Given the description of an element on the screen output the (x, y) to click on. 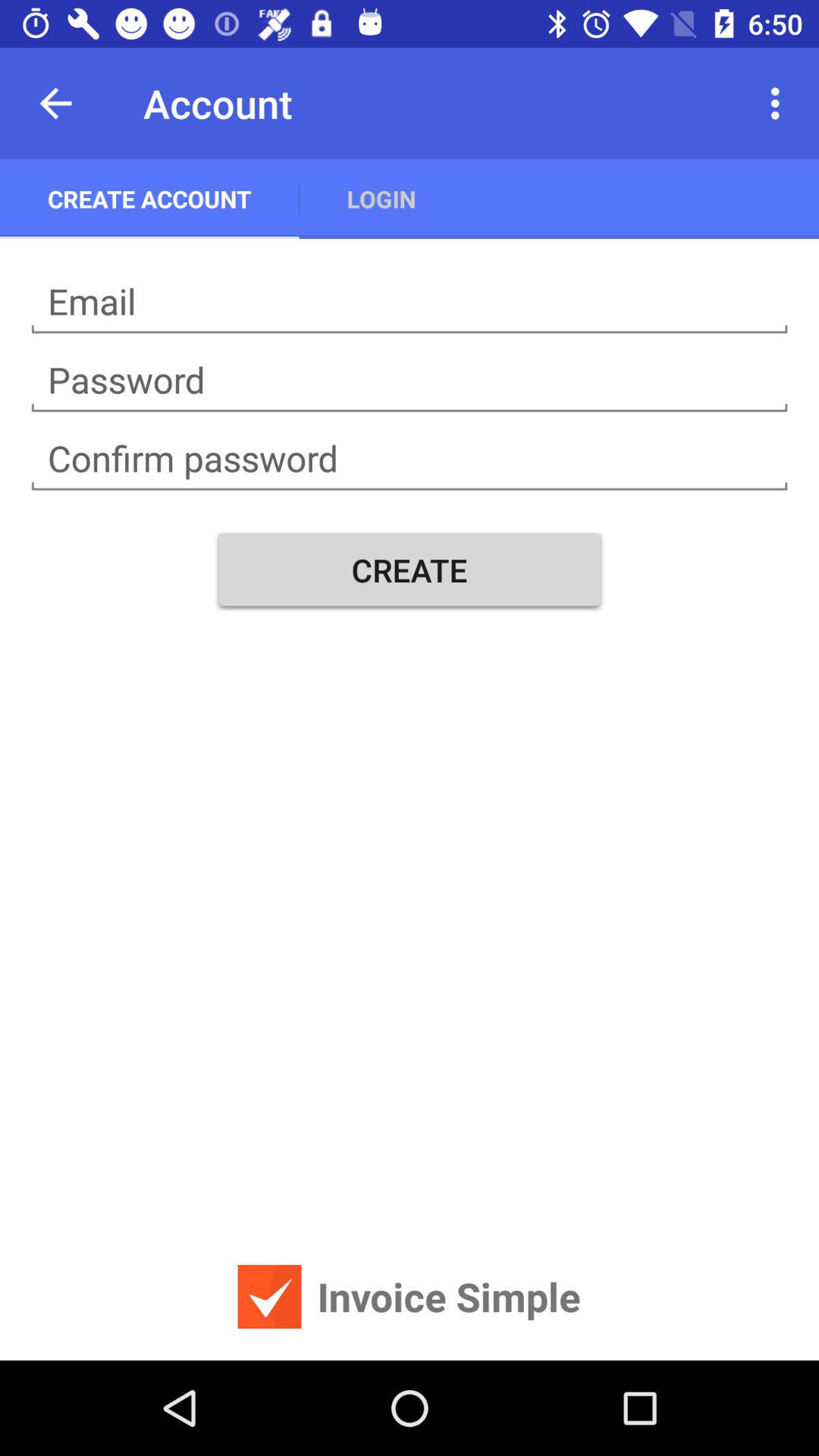
enter password (409, 380)
